Given the description of an element on the screen output the (x, y) to click on. 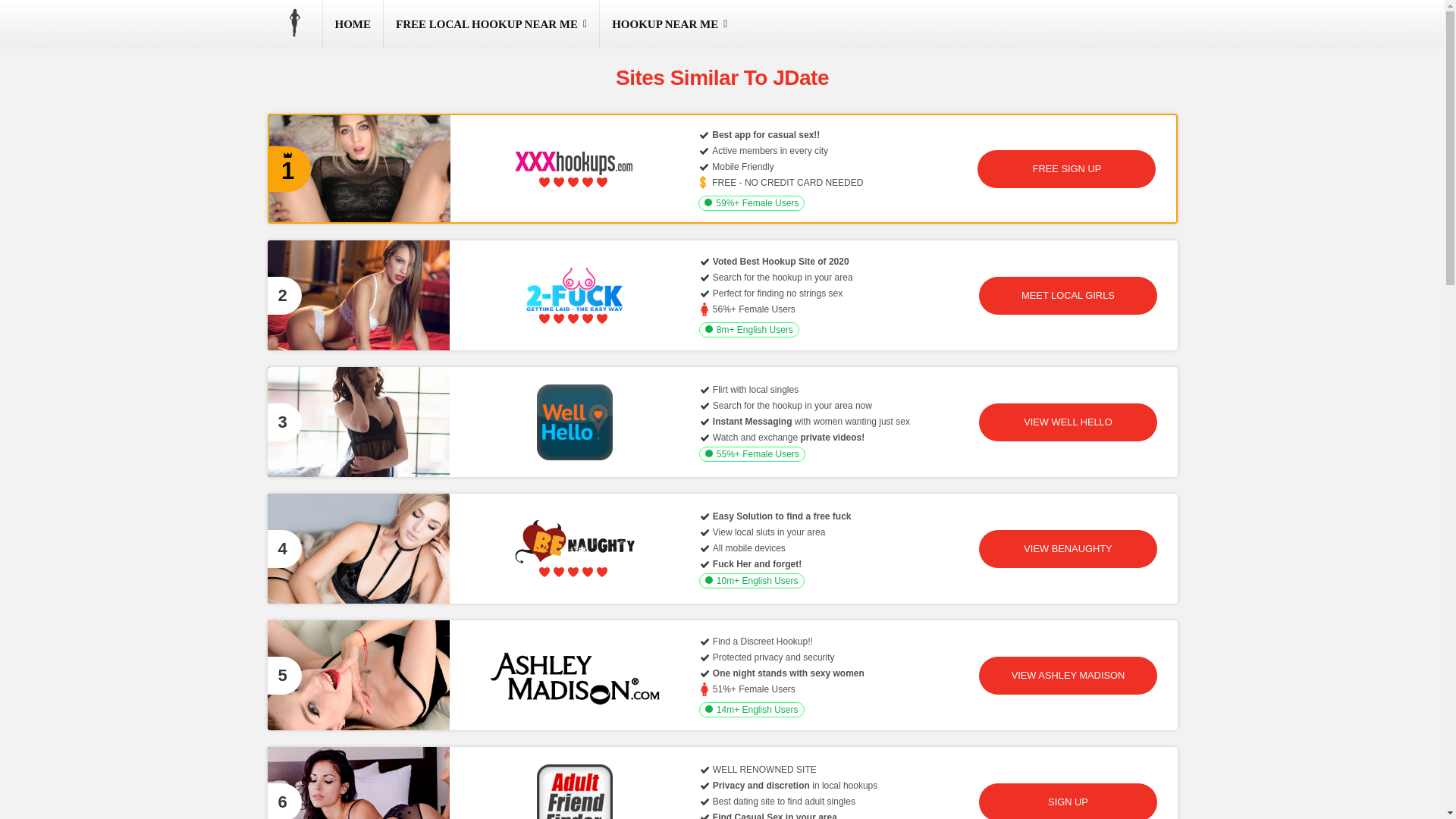
HOME (353, 24)
FREE LOCAL HOOKUP NEAR ME (491, 24)
